Given the description of an element on the screen output the (x, y) to click on. 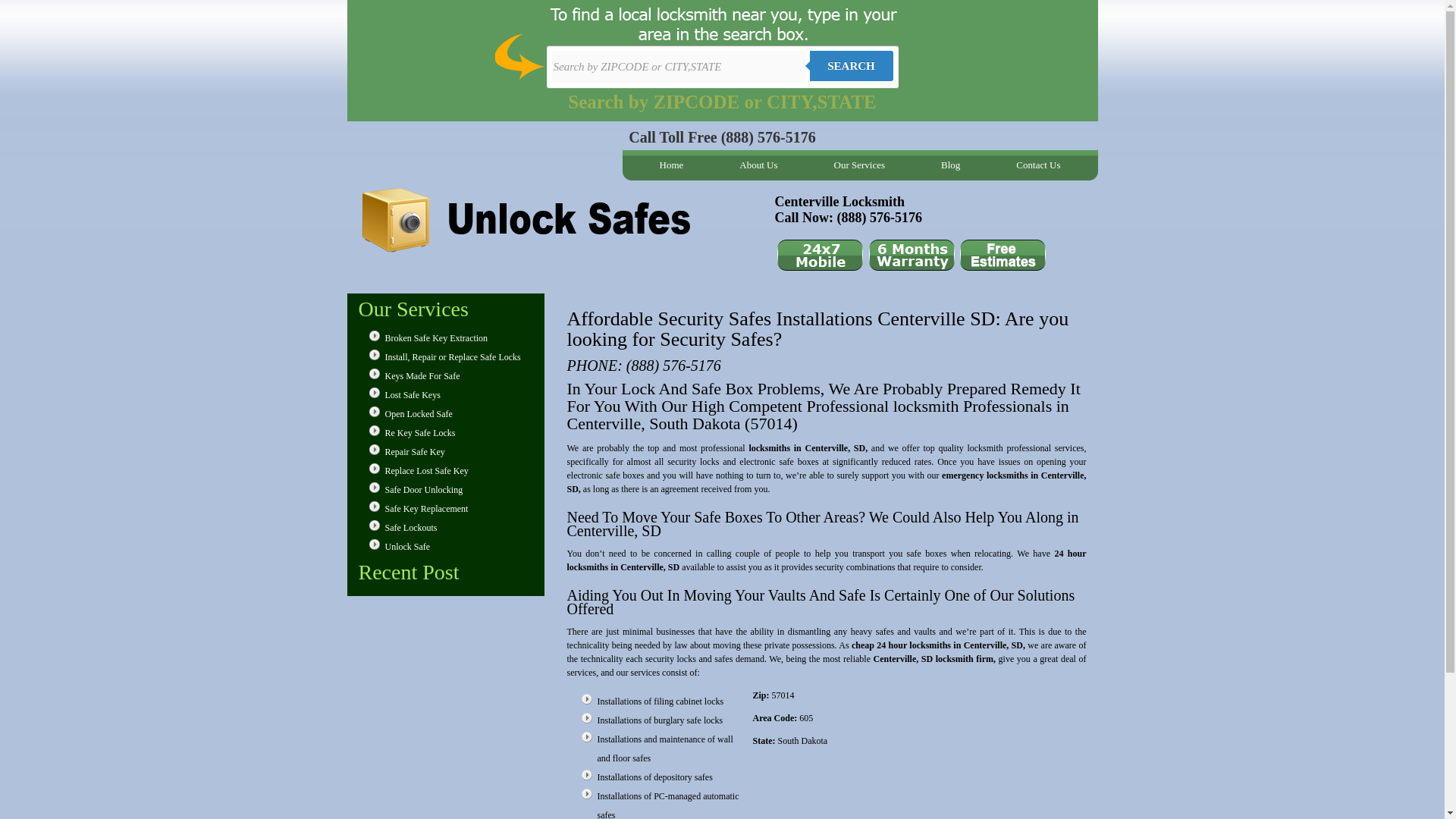
Install, Repair or Replace Safe Locks (453, 357)
SEARCH (851, 65)
605 (805, 717)
Safe Door Unlocking (424, 489)
Re Key Safe Locks (420, 432)
South Dakota (802, 740)
Contact Us (1037, 164)
Replace Lost Safe Key (426, 470)
Open Locked Safe (418, 413)
Blog (950, 164)
